Given the description of an element on the screen output the (x, y) to click on. 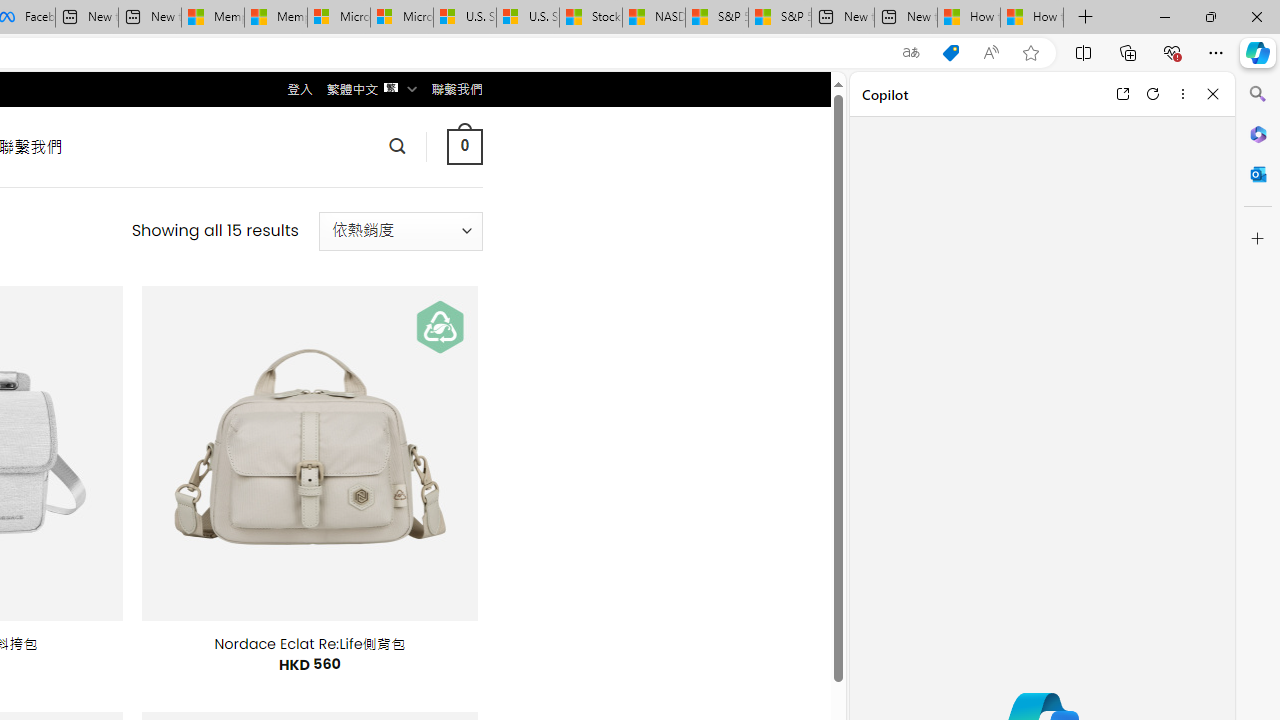
  0   (464, 146)
 0  (464, 146)
Show translate options (910, 53)
Outlook (1258, 174)
S&P 500, Nasdaq end lower, weighed by Nvidia dip | Watch (779, 17)
